Given the description of an element on the screen output the (x, y) to click on. 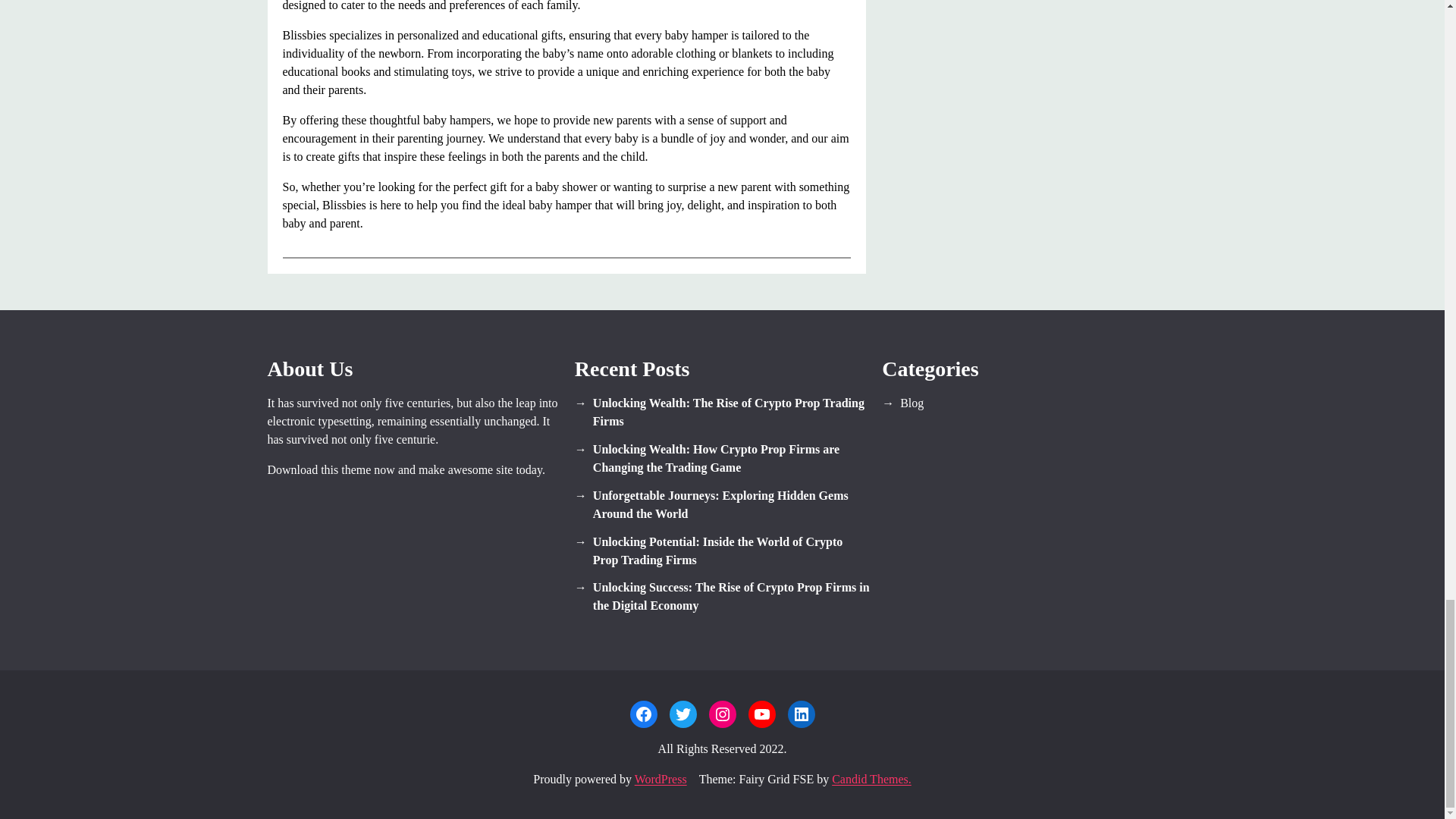
Facebook (642, 714)
Instagram (721, 714)
Blog (1029, 402)
WordPress (660, 779)
Twitter (681, 714)
LinkedIn (800, 714)
YouTube (761, 714)
